Given the description of an element on the screen output the (x, y) to click on. 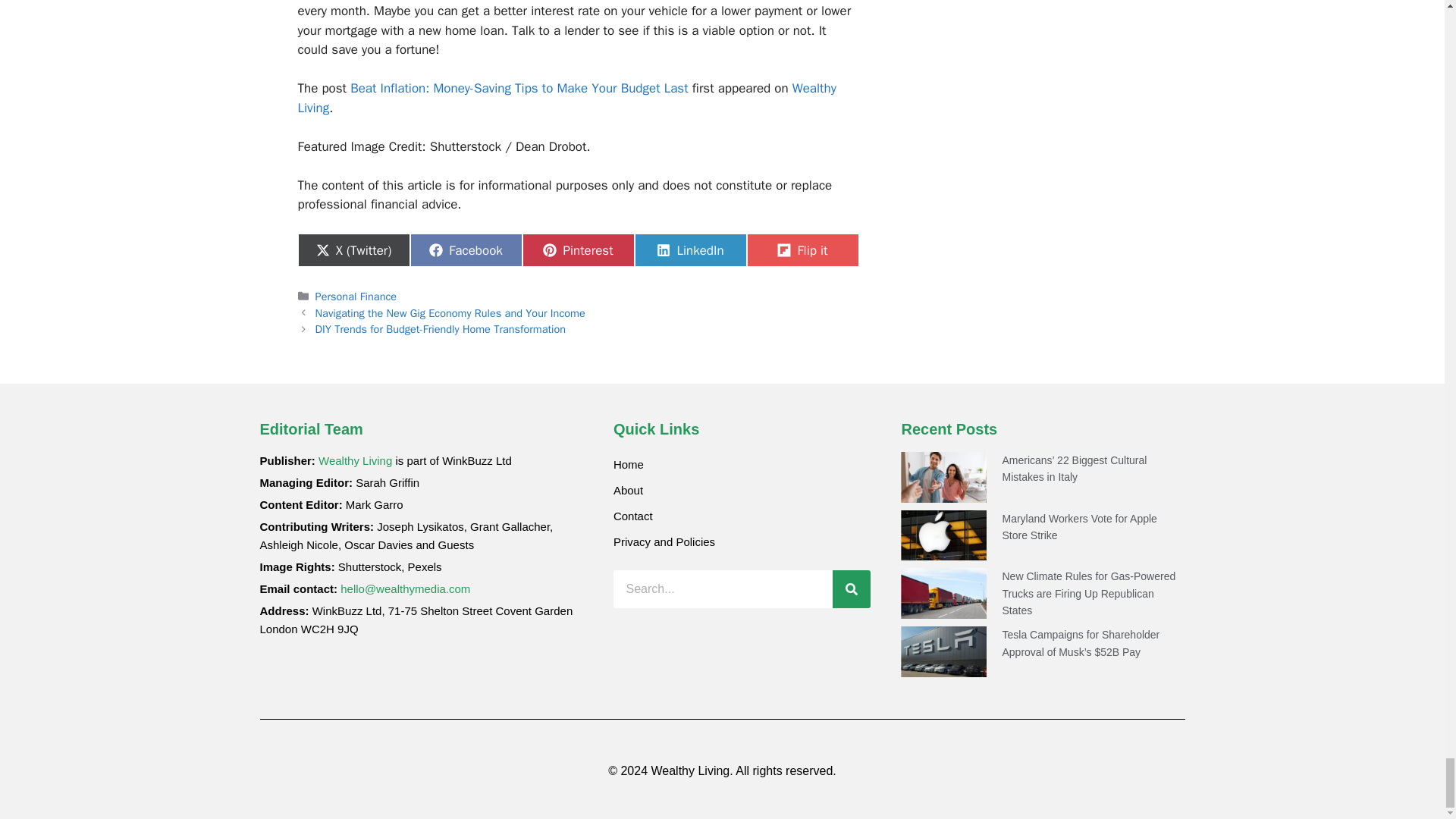
Facebook (465, 249)
Wealthy Living (354, 460)
Navigating the New Gig Economy Rules and Your Income (450, 313)
Home (741, 464)
Personal Finance (356, 296)
Beat Inflation: Money-Saving Tips to Make Your Budget Last (519, 88)
Wealthy Living (566, 98)
Beat Inflation: Money-Saving Tips to Make Your Budget Last (519, 88)
LinkedIn (689, 249)
Privacy and Policies (741, 542)
DIY Trends for Budget-Friendly Home Transformation (440, 328)
Contact (741, 516)
Pinterest (577, 249)
About (741, 490)
